Given the description of an element on the screen output the (x, y) to click on. 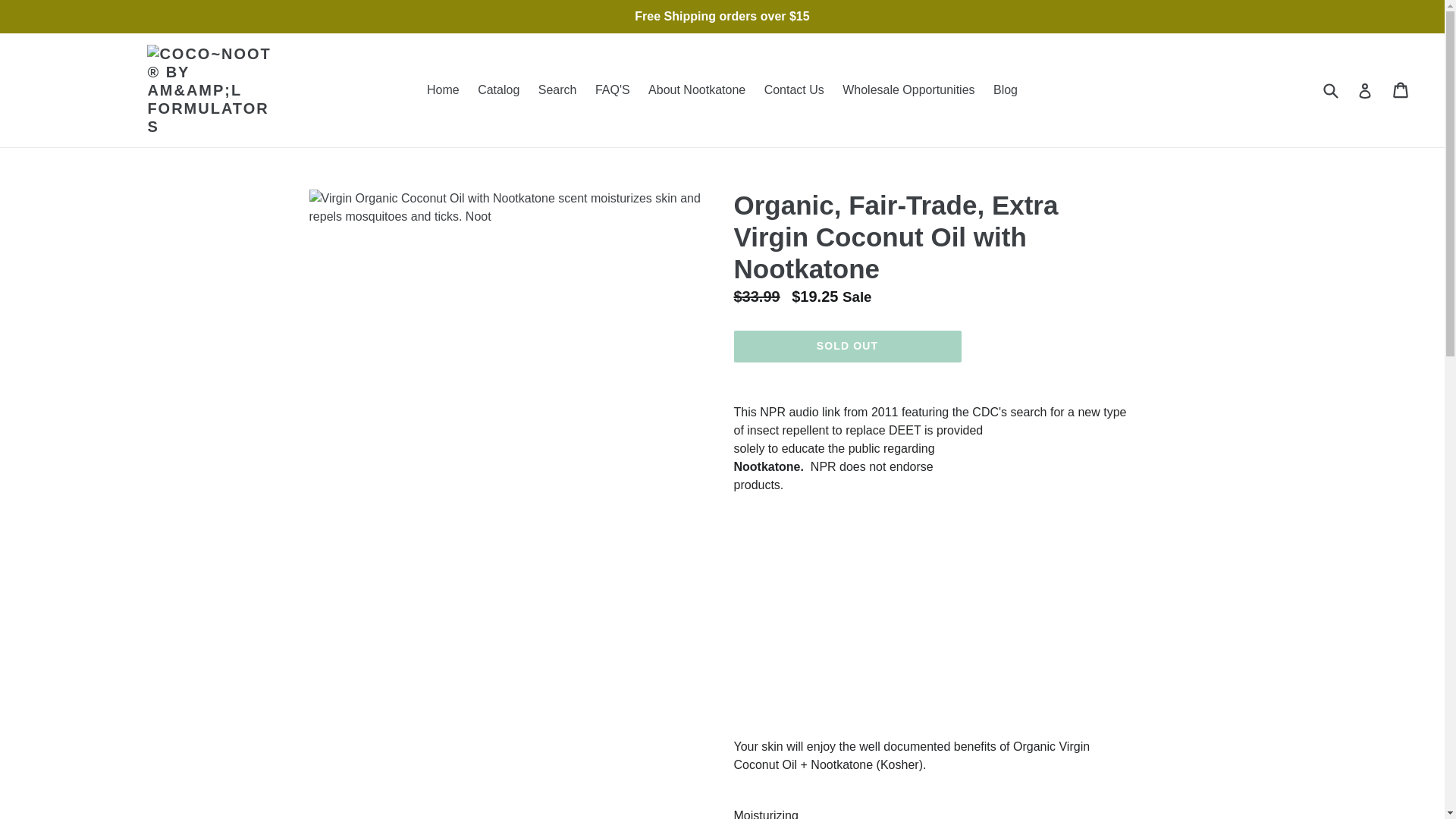
About Nootkatone (696, 89)
SOLD OUT (846, 346)
FAQ'S (612, 89)
Blog (1005, 89)
Catalog (498, 89)
Submit (1329, 89)
Home (443, 89)
Log in (1364, 90)
Wholesale Opportunities (907, 89)
Search (1401, 89)
NPR embedded audio player (558, 89)
Contact Us (934, 622)
